Given the description of an element on the screen output the (x, y) to click on. 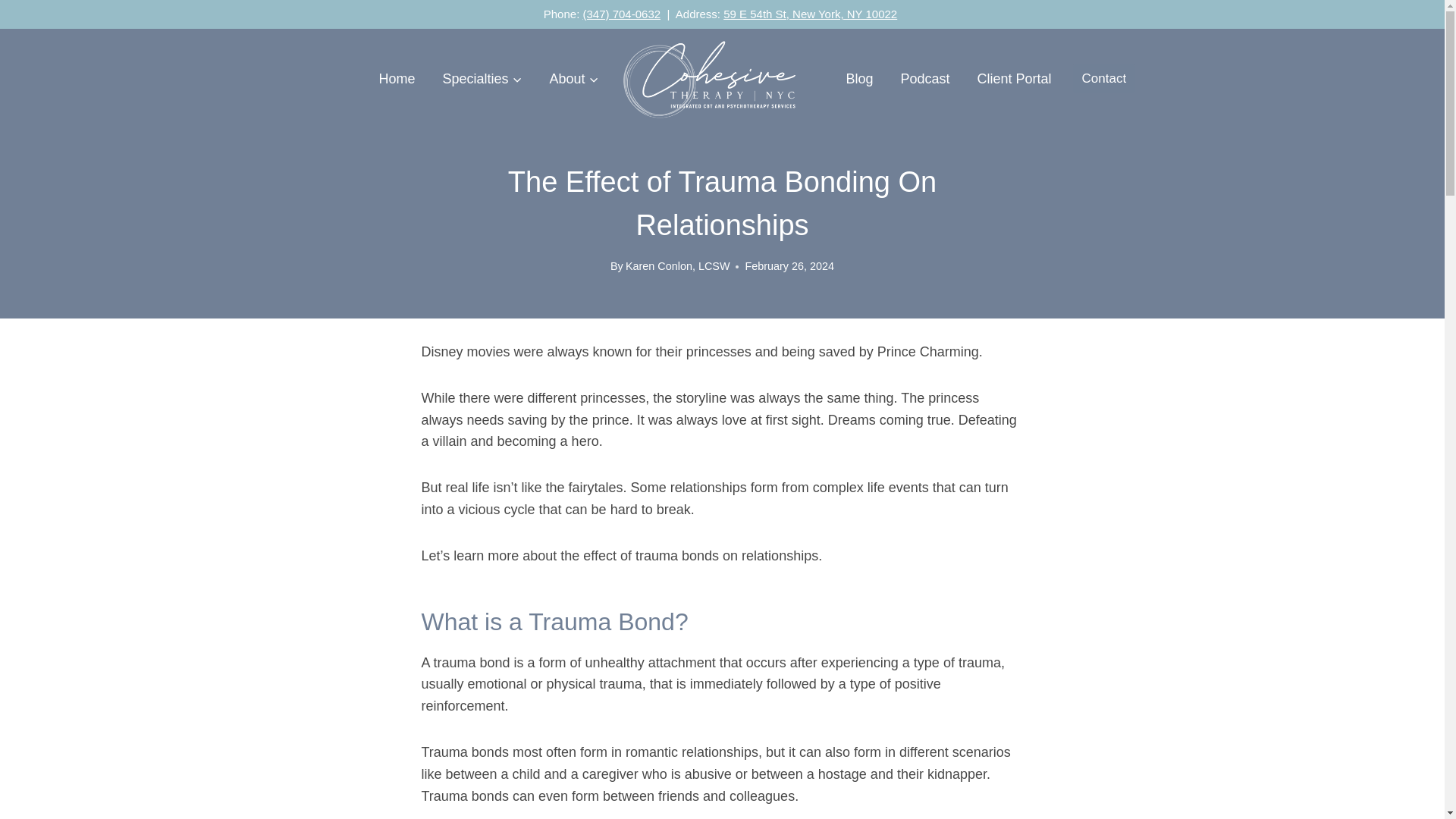
Client Portal (1014, 79)
Karen Conlon, LCSW (678, 265)
59 E 54th St, New York, NY 10022 (809, 13)
Home (396, 78)
About (573, 78)
Podcast (924, 79)
Blog (859, 79)
Contact (1104, 78)
Specialties (481, 78)
